Given the description of an element on the screen output the (x, y) to click on. 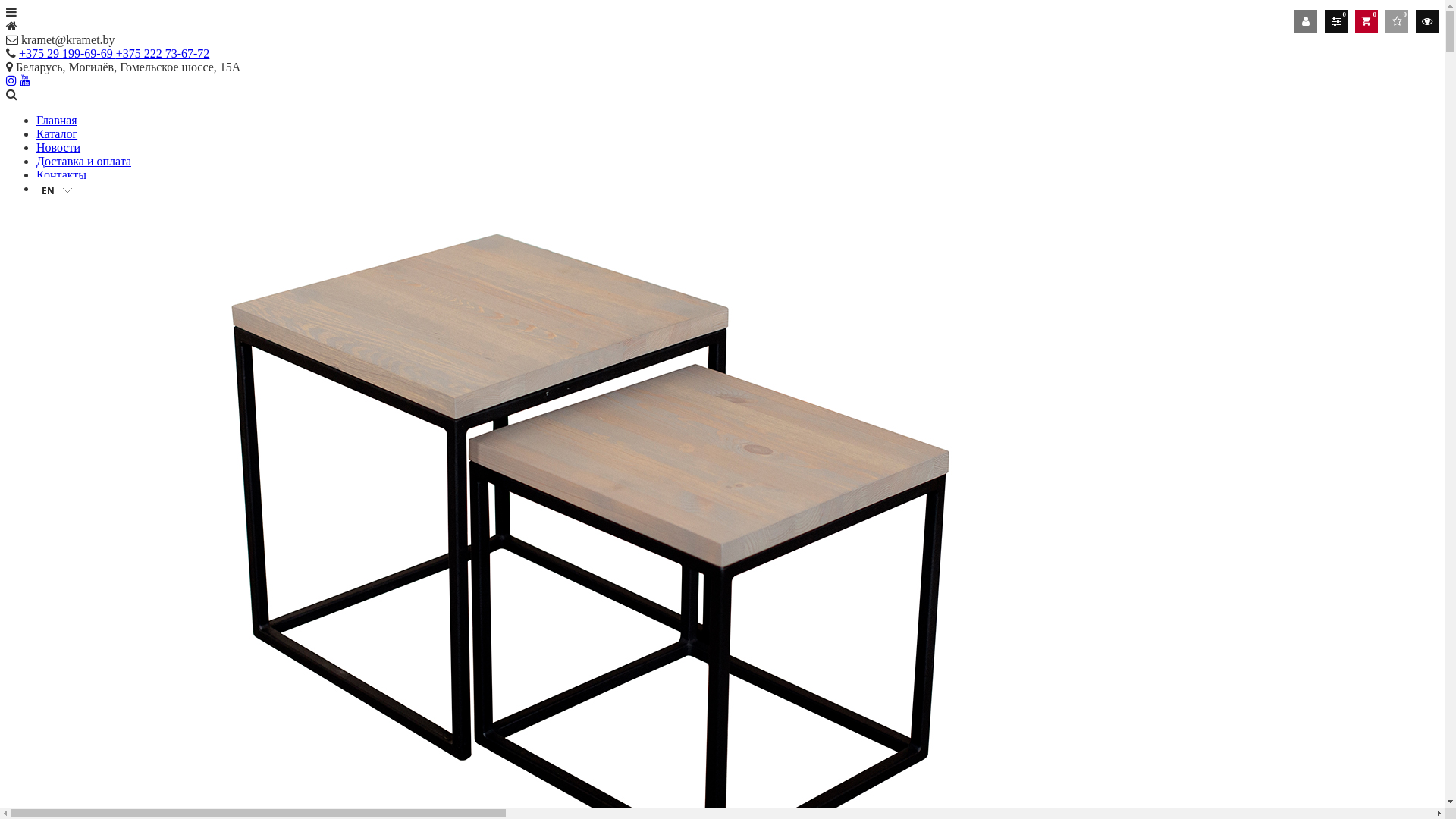
0 Element type: text (1335, 20)
0 Element type: text (1396, 20)
+375 222 73-67-72 Element type: text (163, 53)
local_grocery_store
0 Element type: text (1366, 20)
kramet@kramet.by Element type: text (60, 39)
+375 29 199-69-69 Element type: text (67, 53)
